Given the description of an element on the screen output the (x, y) to click on. 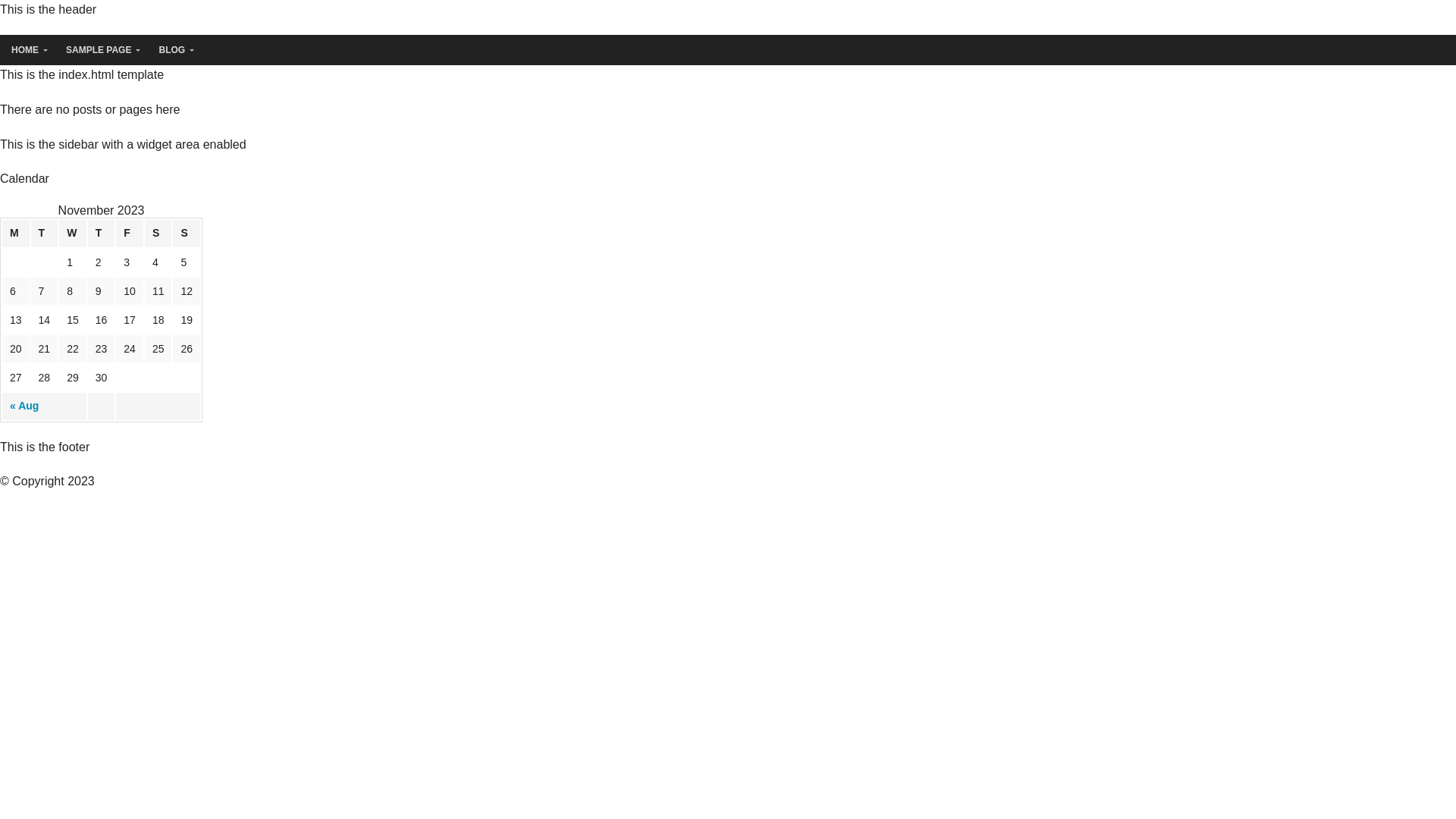
BLOG Element type: text (173, 49)
HOME Element type: text (26, 49)
SAMPLE PAGE Element type: text (99, 49)
